Given the description of an element on the screen output the (x, y) to click on. 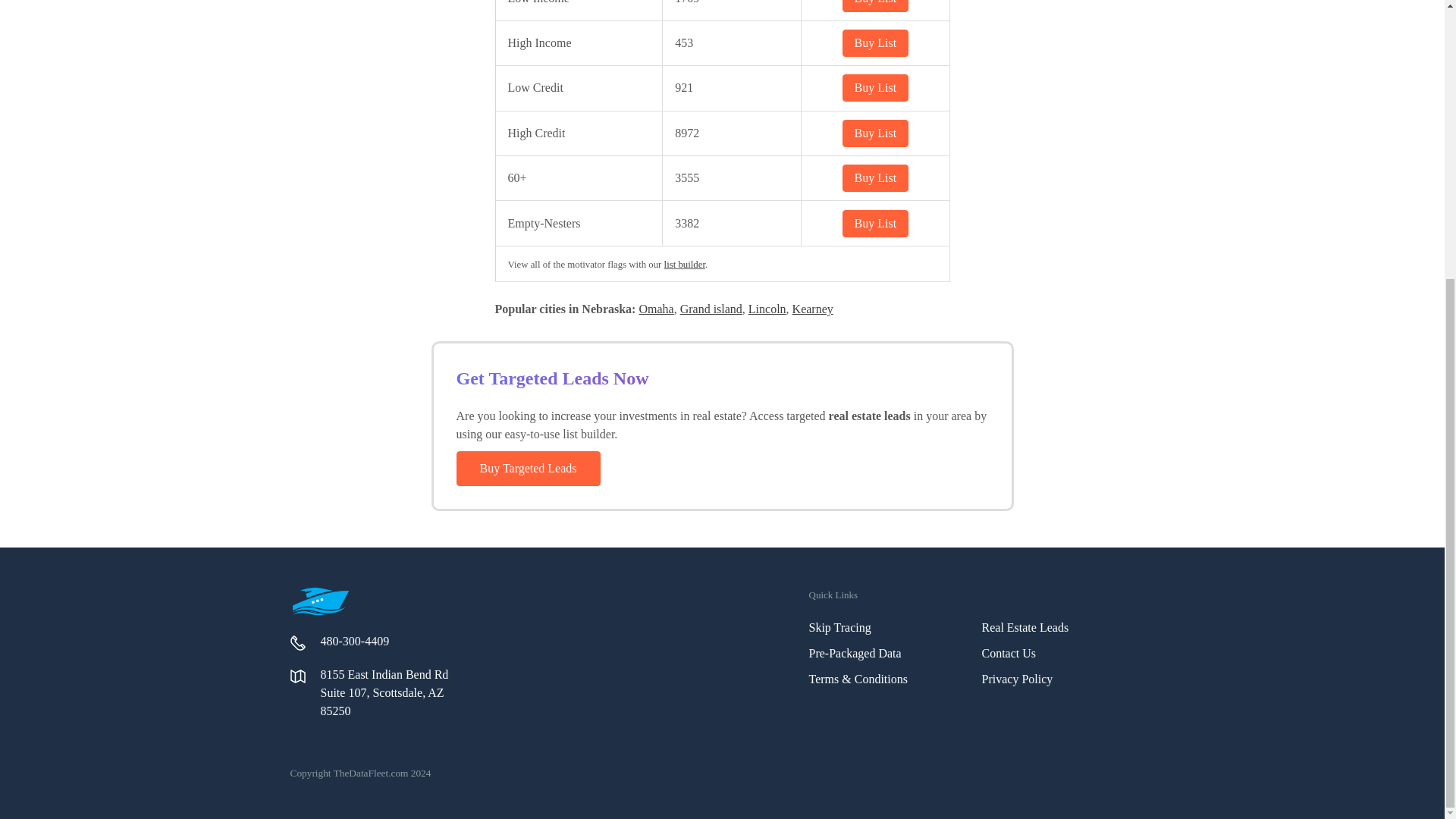
Kearney (812, 308)
Privacy Policy (1016, 678)
480-300-4409 (354, 640)
Buy List (875, 133)
Skip Tracing (839, 626)
Buy List (875, 177)
Buy List (875, 6)
Pre-Packaged Data (854, 653)
list builder (683, 264)
Buy List (875, 222)
